Given the description of an element on the screen output the (x, y) to click on. 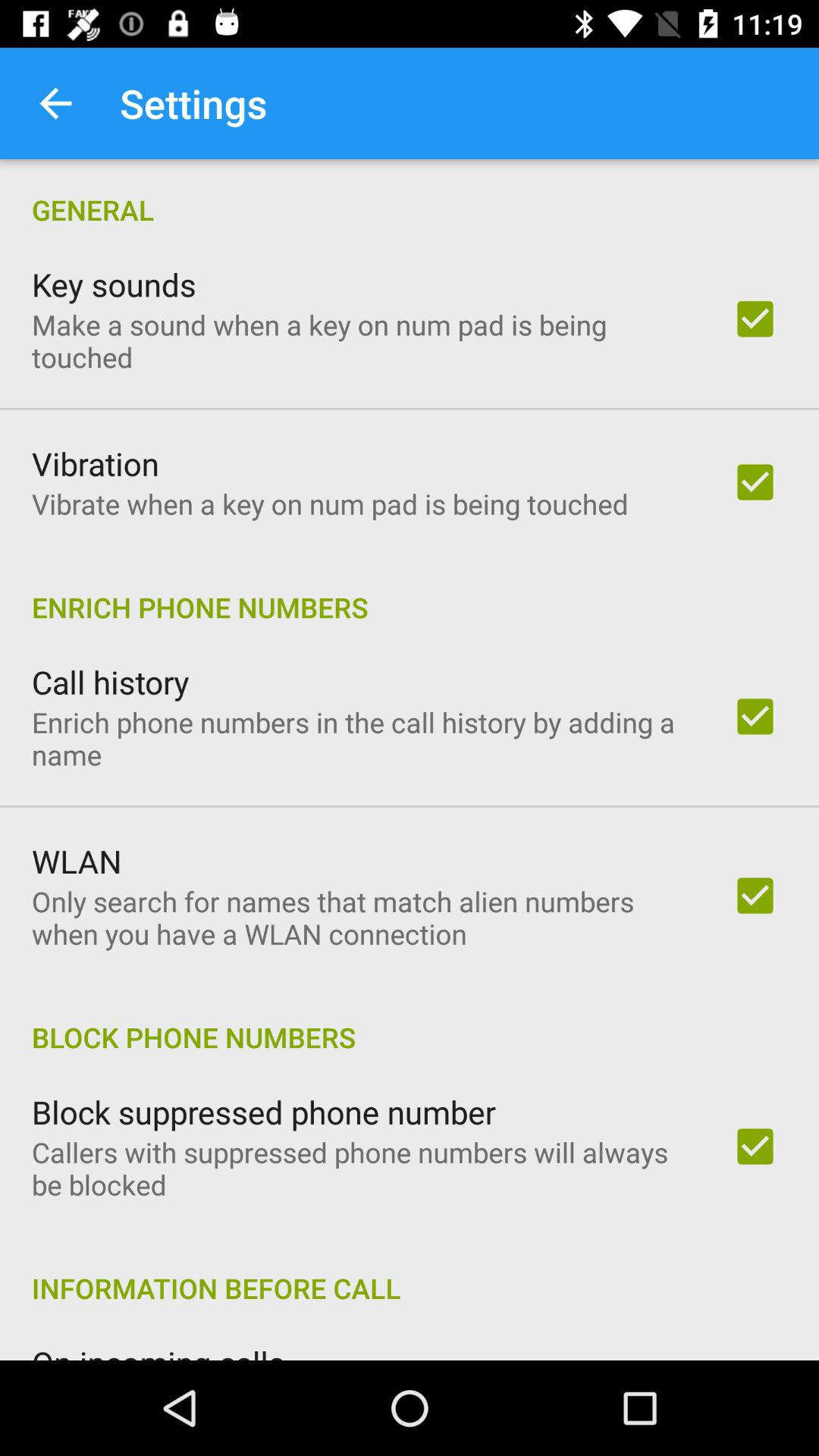
turn on item above the general icon (55, 103)
